Given the description of an element on the screen output the (x, y) to click on. 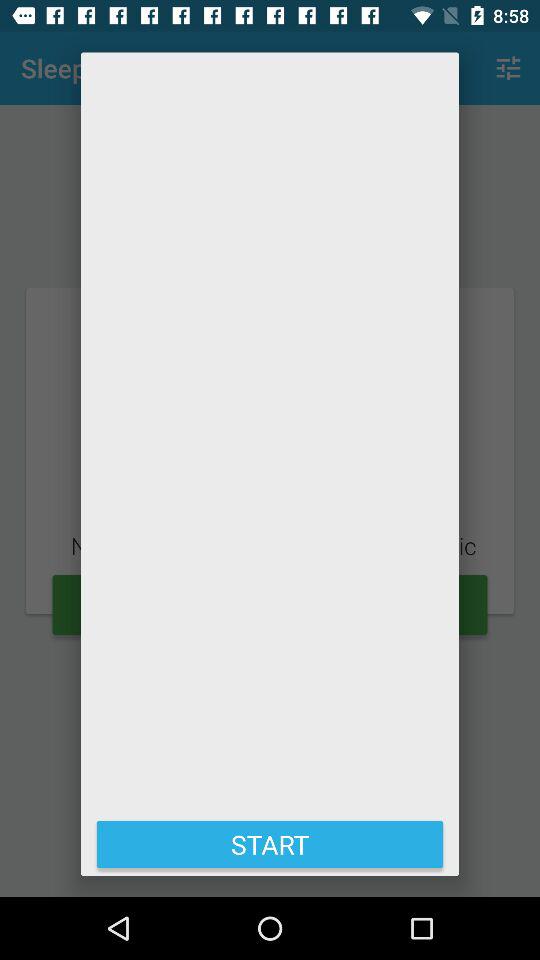
scroll until the start item (269, 844)
